Given the description of an element on the screen output the (x, y) to click on. 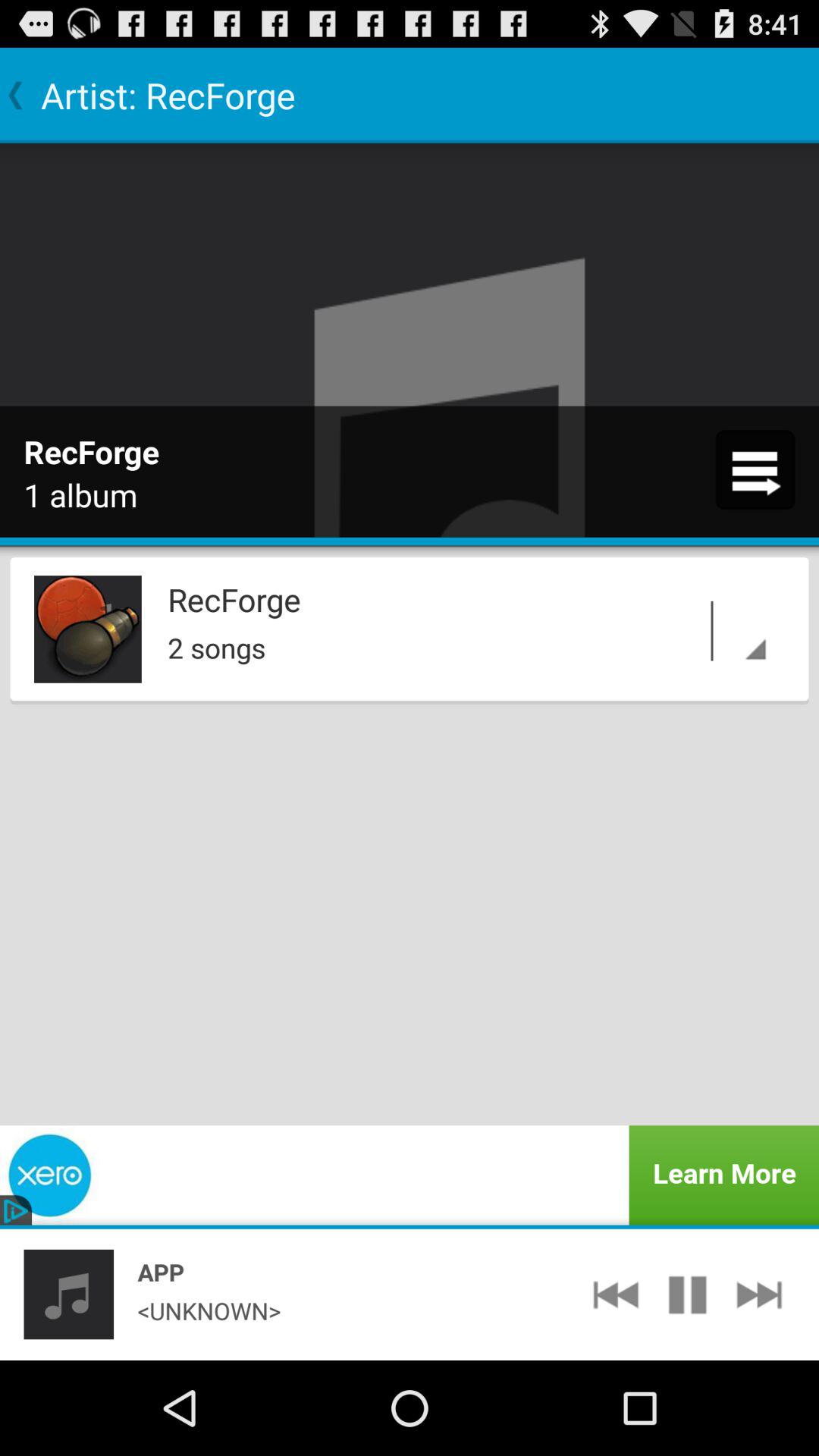
scroll until the 2 songs
 icon (470, 643)
